Given the description of an element on the screen output the (x, y) to click on. 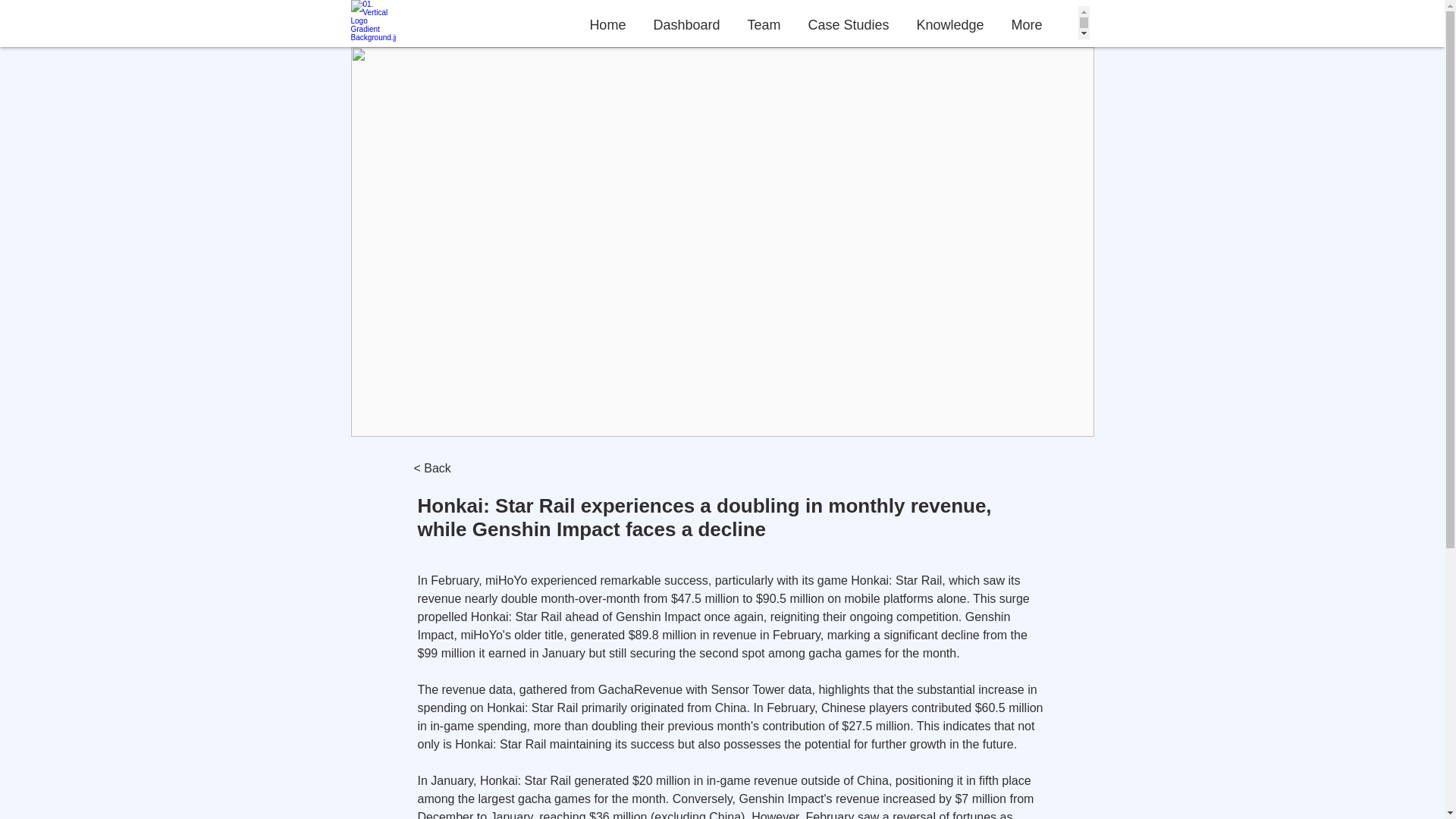
Knowledge (949, 22)
Dashboard (686, 22)
Home (607, 22)
Team (763, 22)
Case Studies (847, 22)
